Given the description of an element on the screen output the (x, y) to click on. 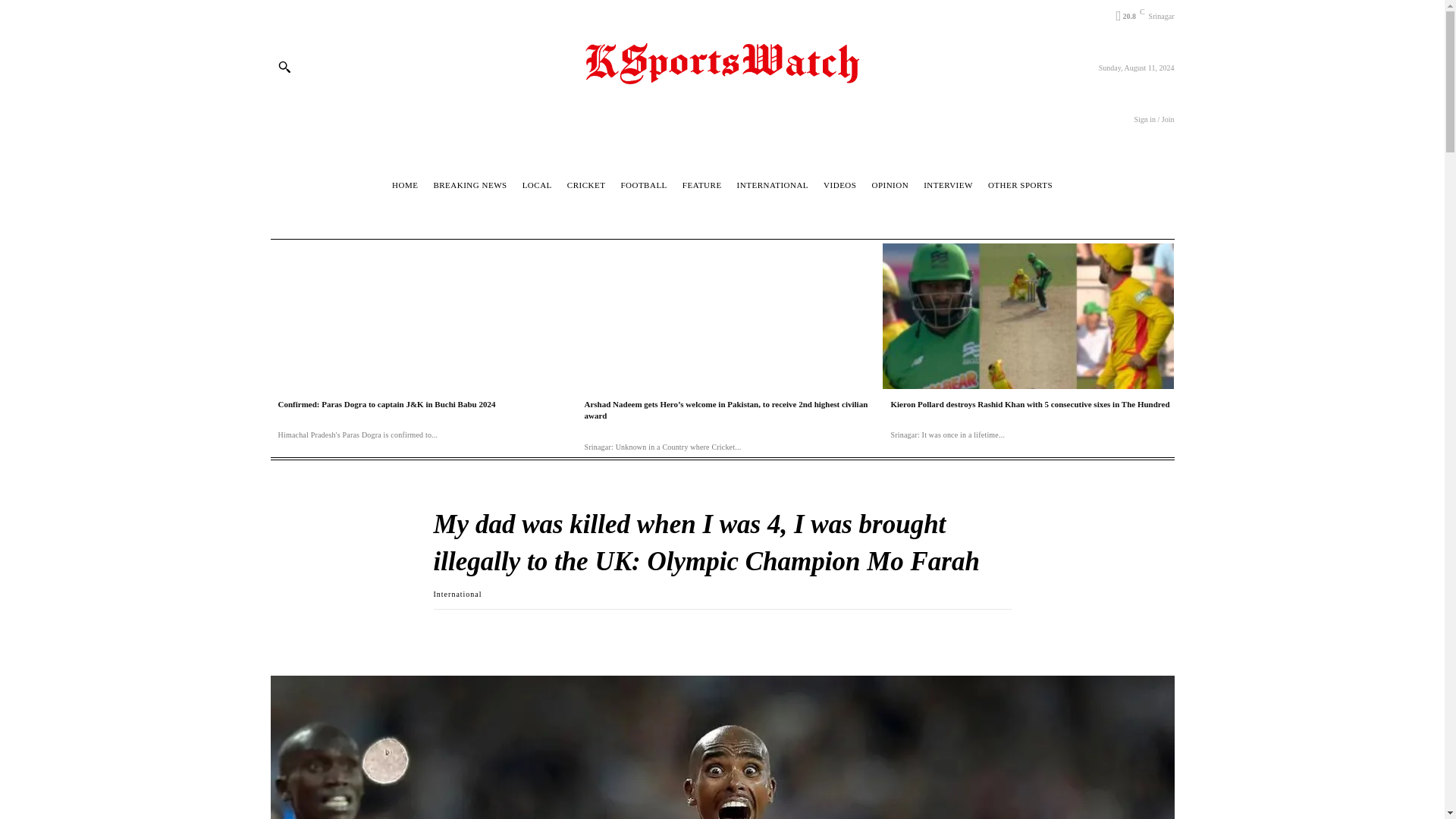
VIDEOS (839, 185)
CRICKET (586, 185)
HOME (405, 185)
INTERNATIONAL (772, 185)
INTERVIEW (948, 185)
OTHER SPORTS (1020, 185)
LOCAL (537, 185)
View all posts in International (457, 593)
BREAKING NEWS (470, 185)
